Given the description of an element on the screen output the (x, y) to click on. 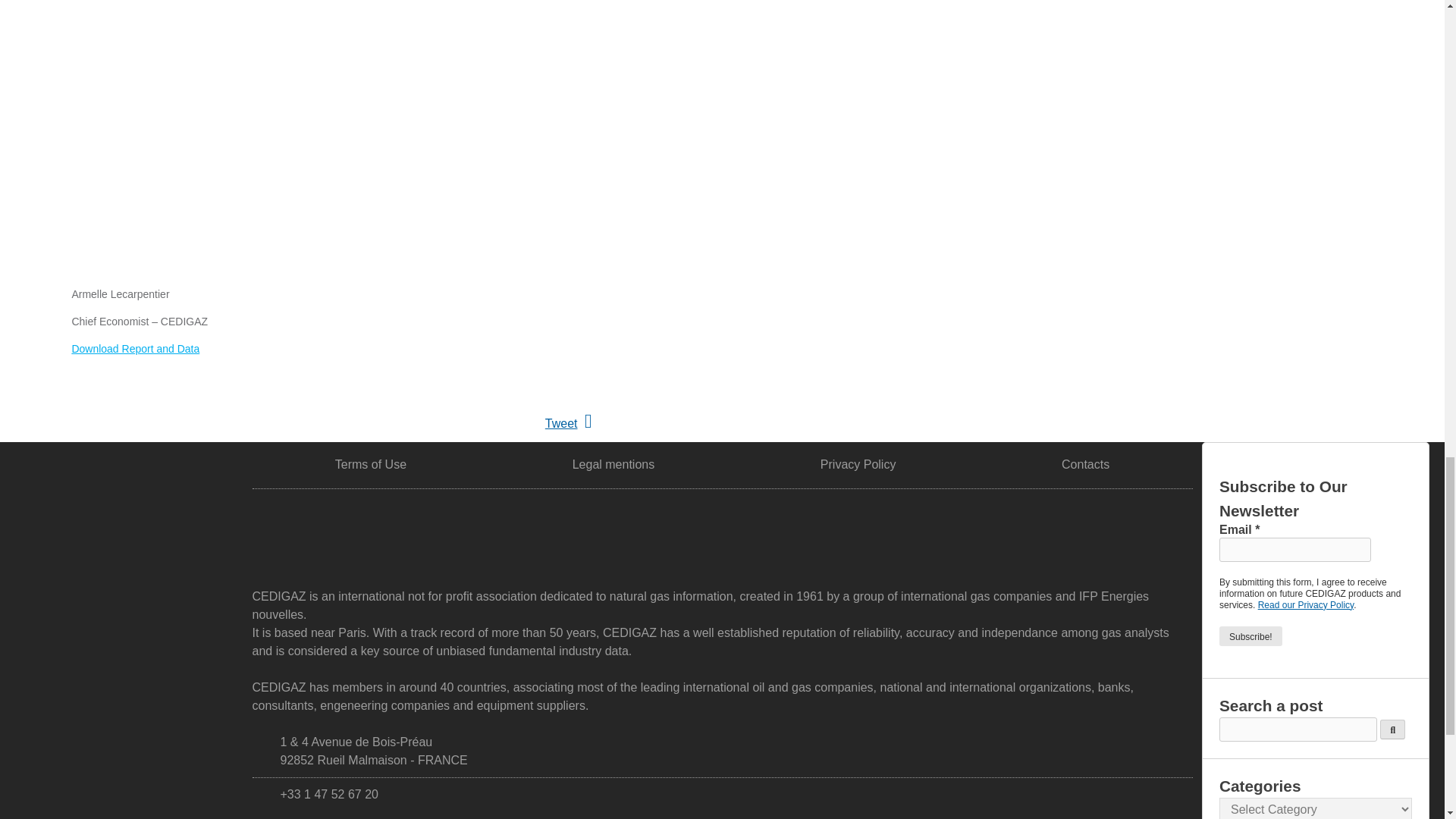
Download Report and Data (135, 348)
Email (1295, 549)
Read our Privacy Policy (1305, 604)
Tweet (561, 422)
Subscribe! (1251, 636)
Contacts (1085, 463)
Legal mentions (613, 463)
Terms of Use (370, 463)
Subscribe! (1251, 636)
Privacy Policy (858, 463)
